Given the description of an element on the screen output the (x, y) to click on. 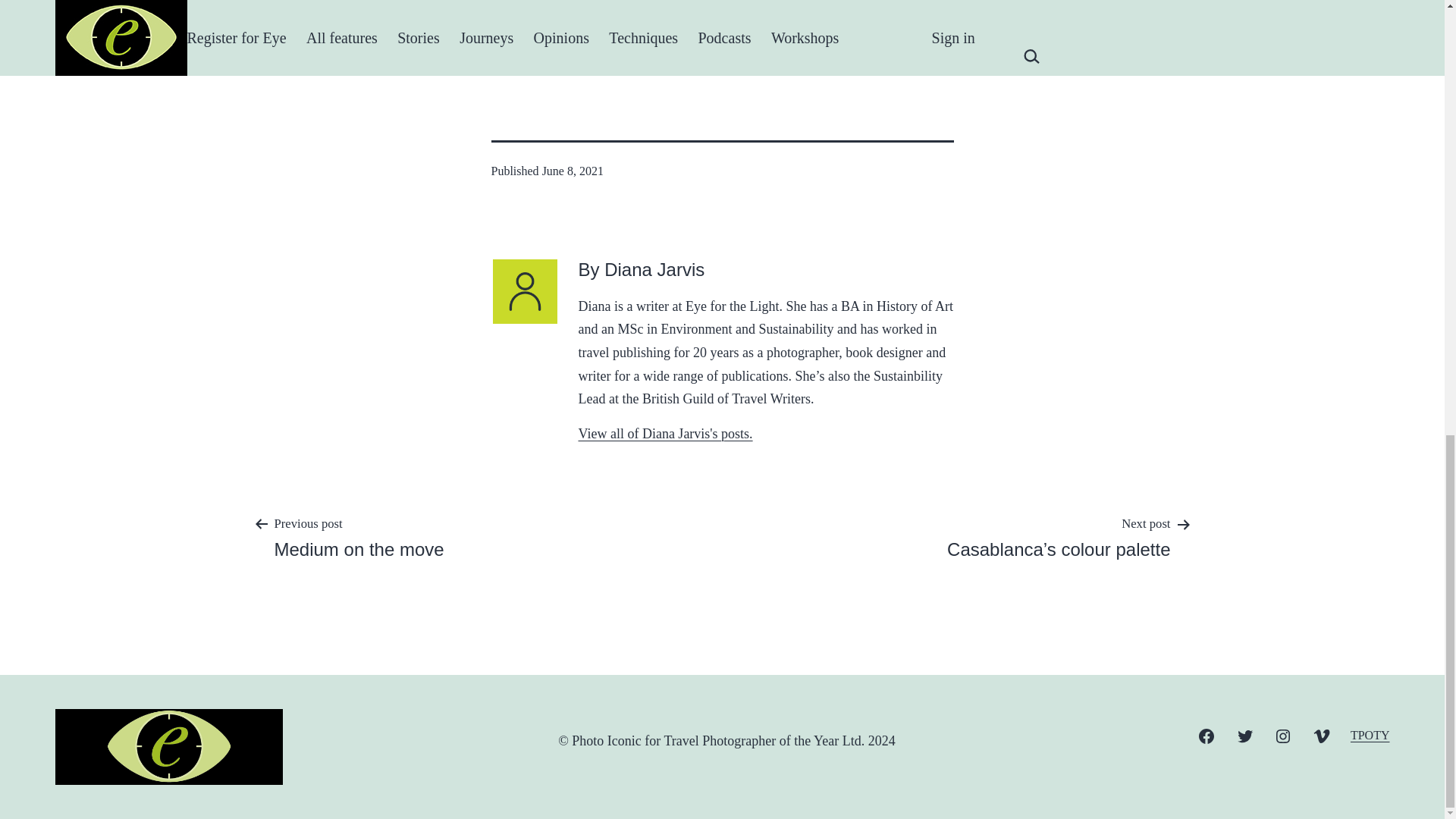
Sign up (515, 49)
